Given the description of an element on the screen output the (x, y) to click on. 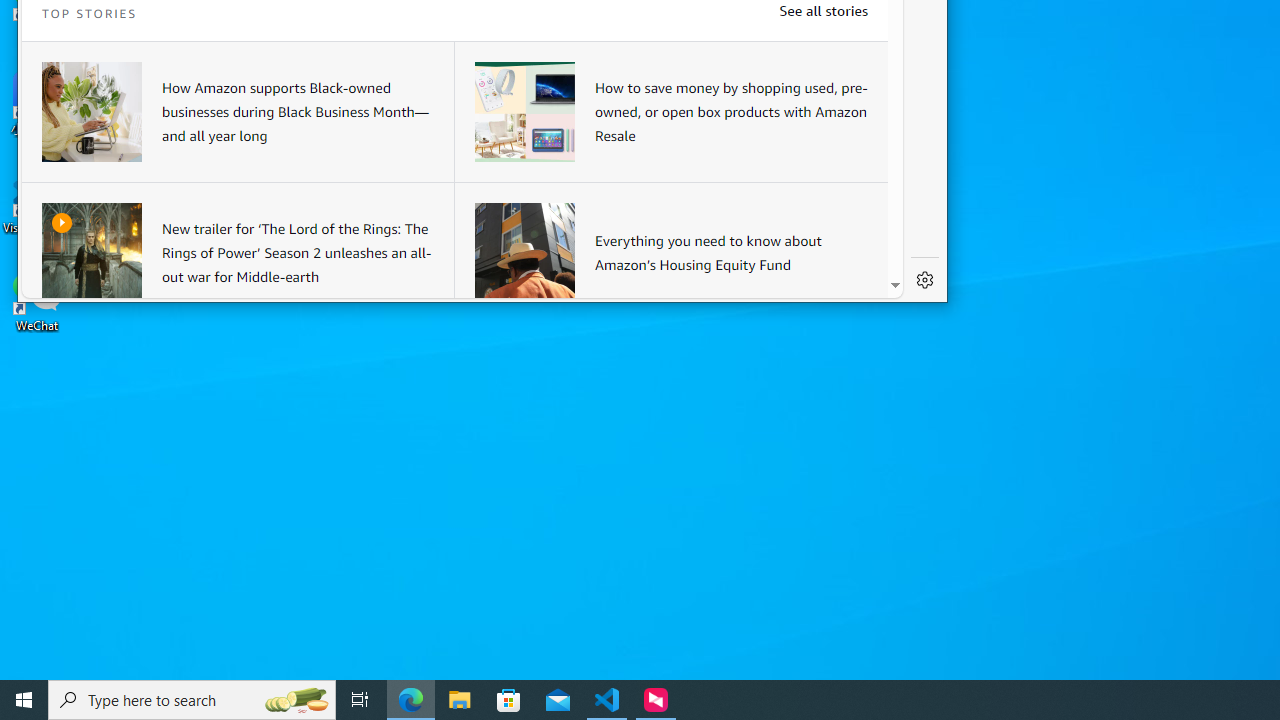
File Explorer (460, 699)
Start (24, 699)
Type here to search (191, 699)
Visual Studio Code - 1 running window (607, 699)
Search highlights icon opens search home window (295, 699)
